Given the description of an element on the screen output the (x, y) to click on. 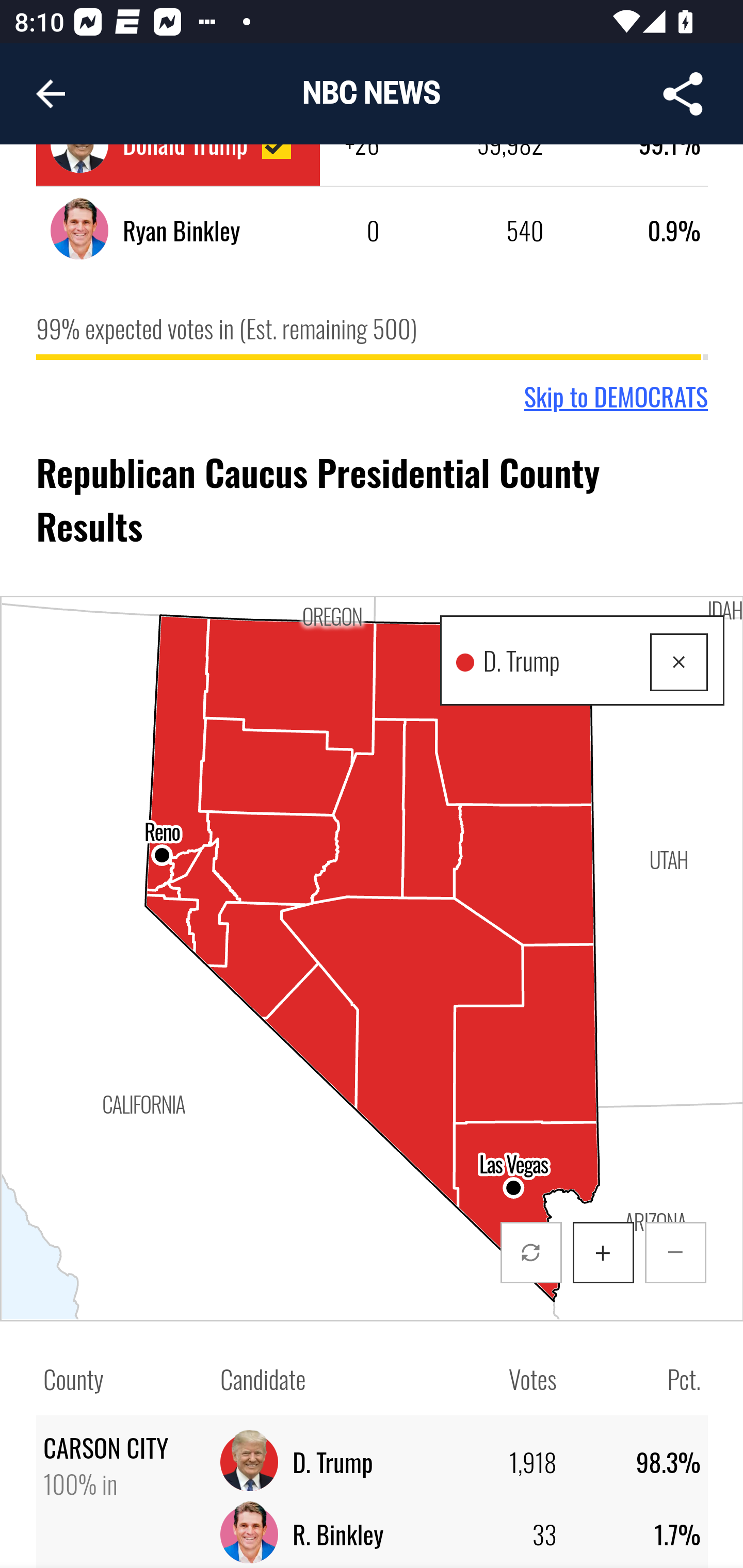
Navigate up (50, 93)
Share Article, button (683, 94)
Skip to DEMOCRATS (616, 398)
Close (679, 663)
